Given the description of an element on the screen output the (x, y) to click on. 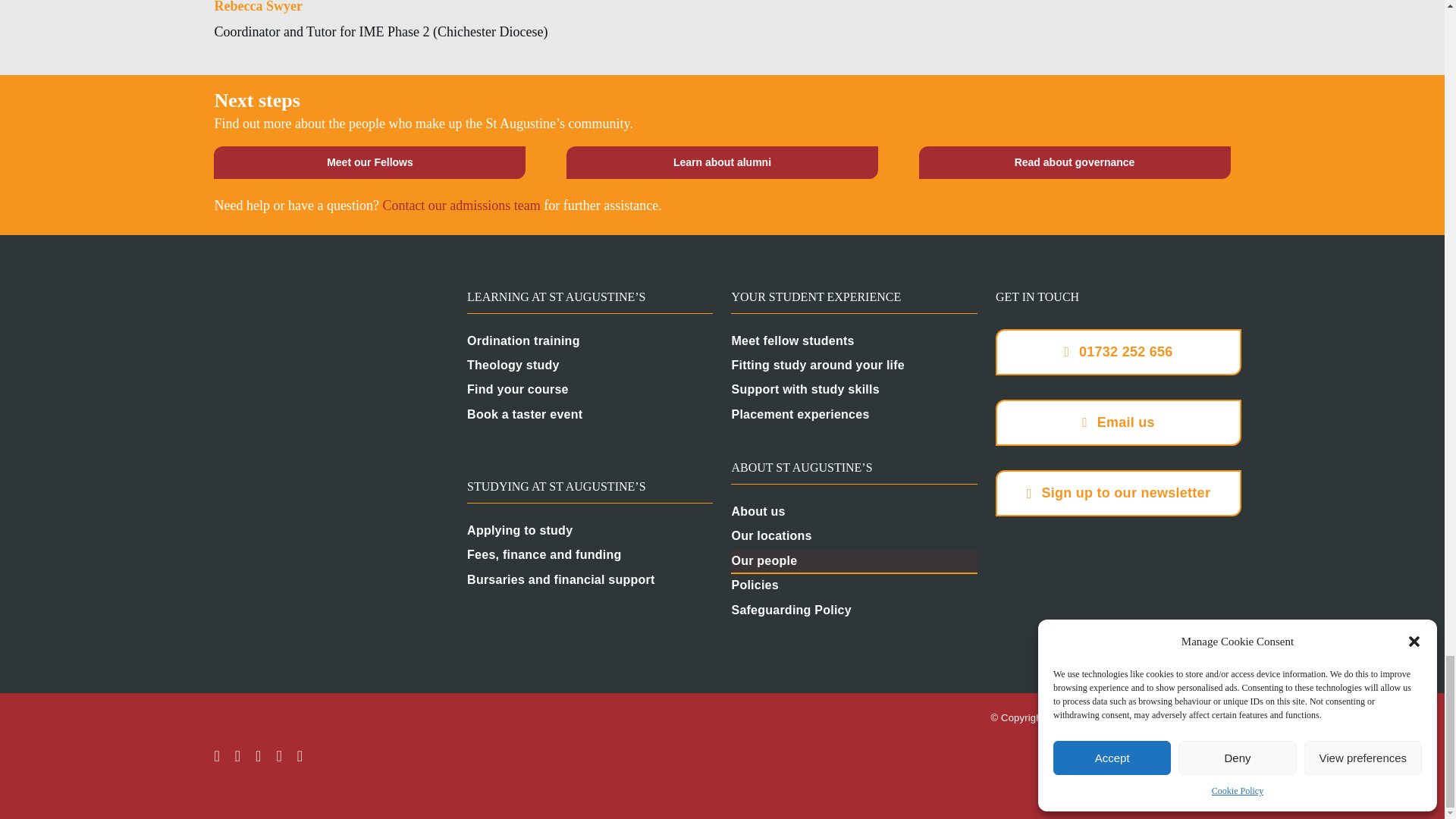
St-Augestines-college-logo-white (325, 333)
